Given the description of an element on the screen output the (x, y) to click on. 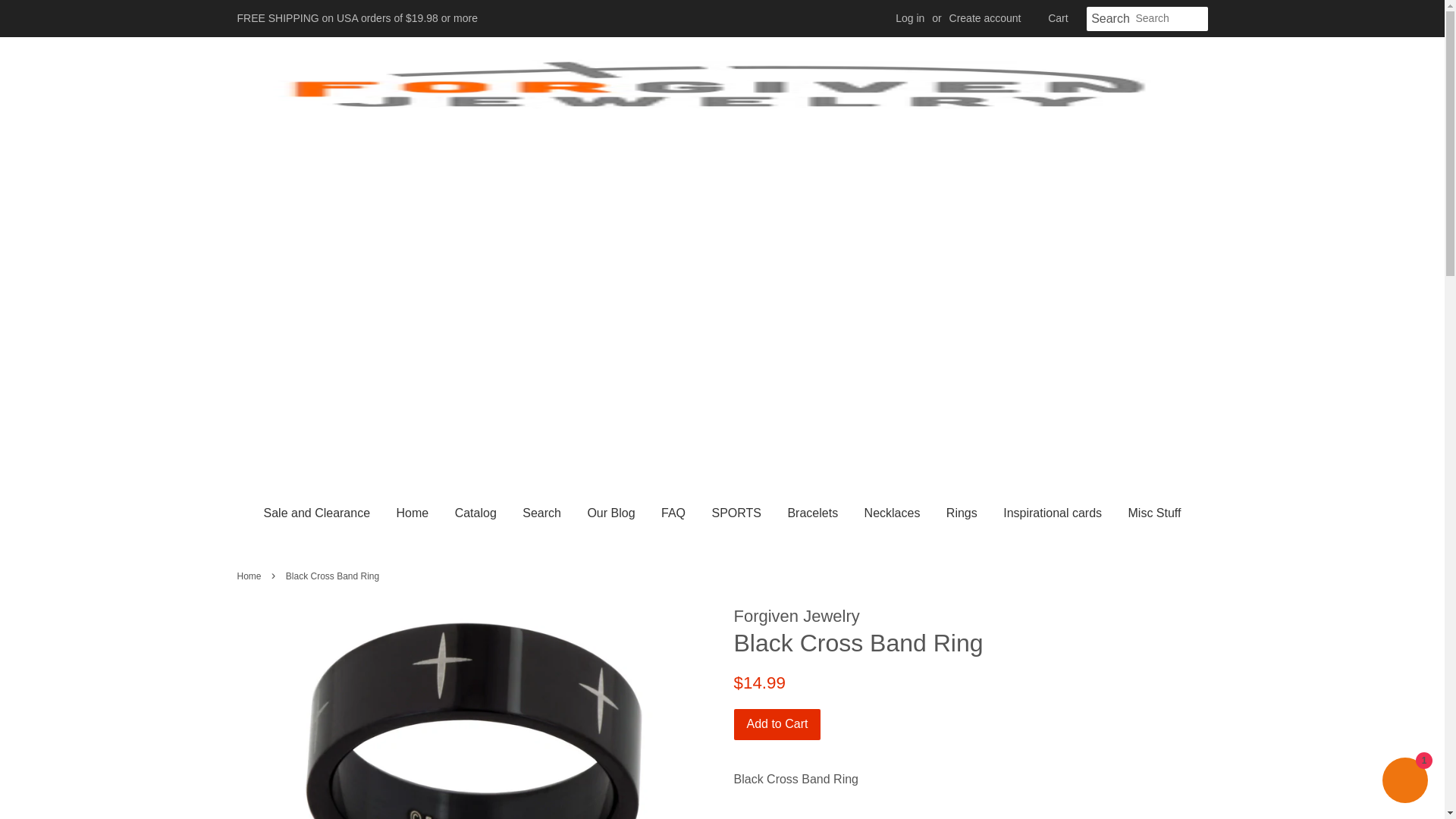
Search (1110, 18)
Back to the frontpage (249, 575)
Shopify online store chat (1404, 781)
Cart (1057, 18)
Create account (985, 18)
Log in (909, 18)
